Given the description of an element on the screen output the (x, y) to click on. 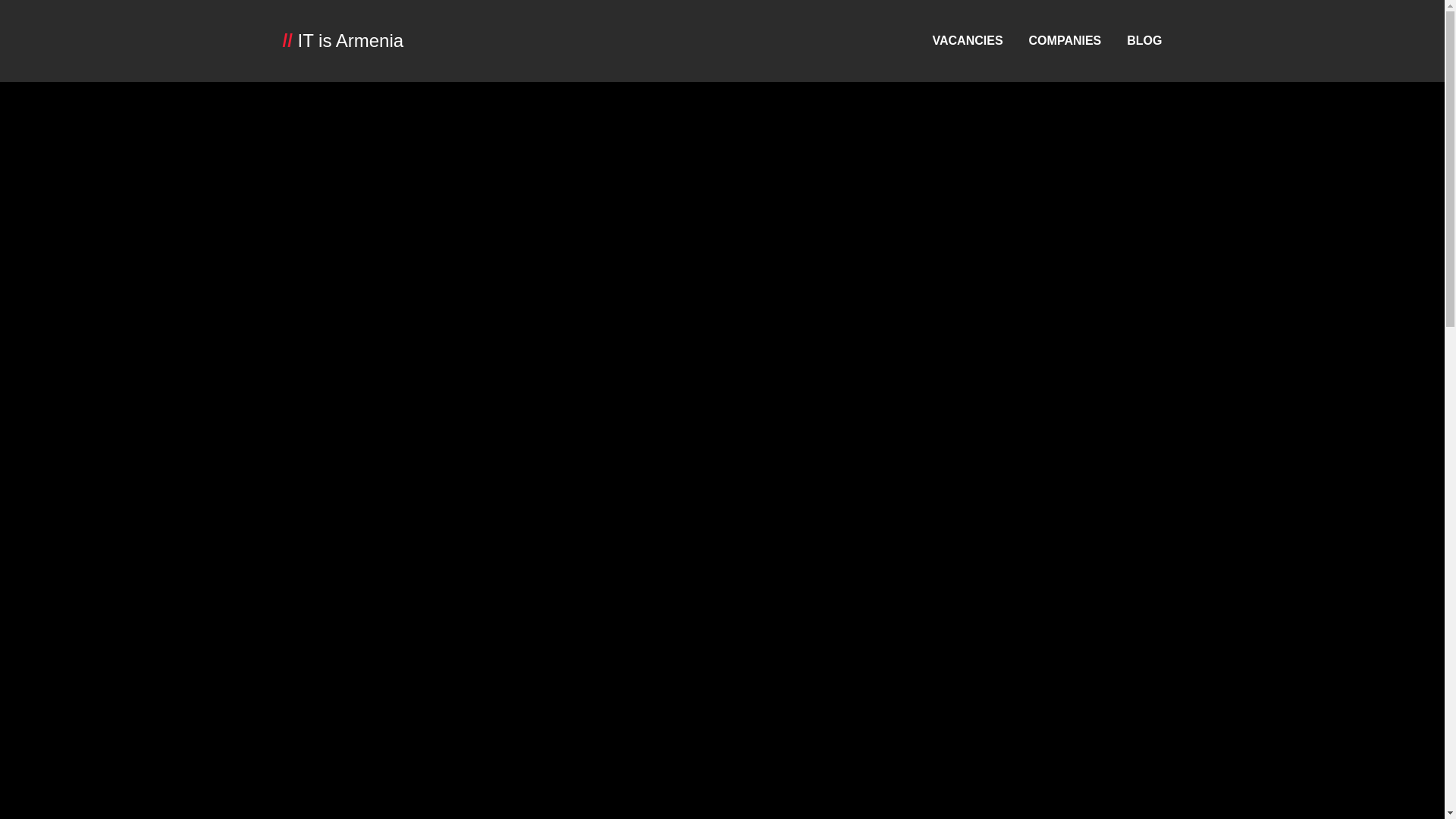
BLOG (1143, 40)
COMPANIES (1065, 40)
VACANCIES (968, 40)
